Given the description of an element on the screen output the (x, y) to click on. 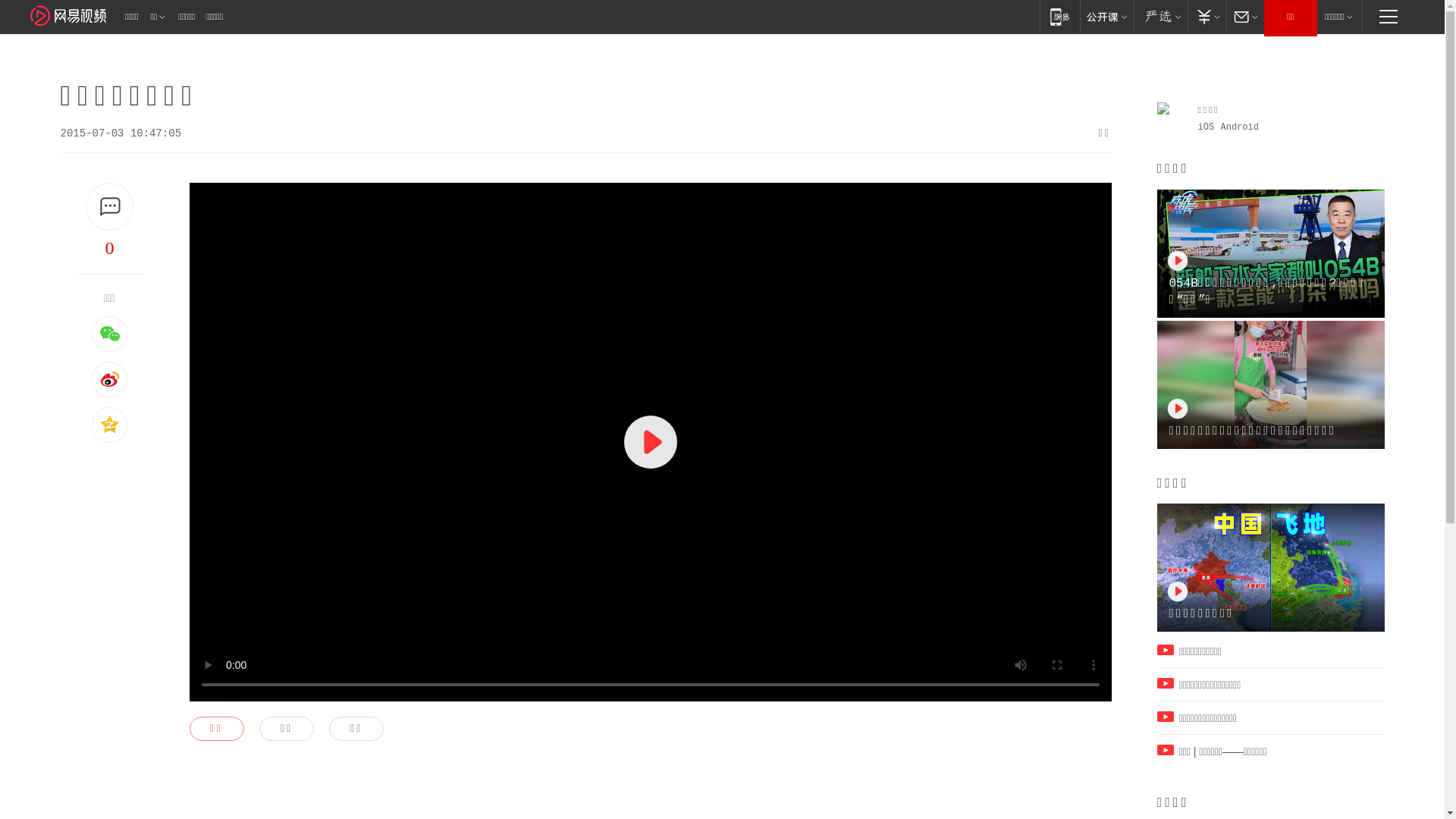
0 Element type: text (109, 247)
Android Element type: text (1239, 127)
iOS Element type: text (1206, 127)
